Given the description of an element on the screen output the (x, y) to click on. 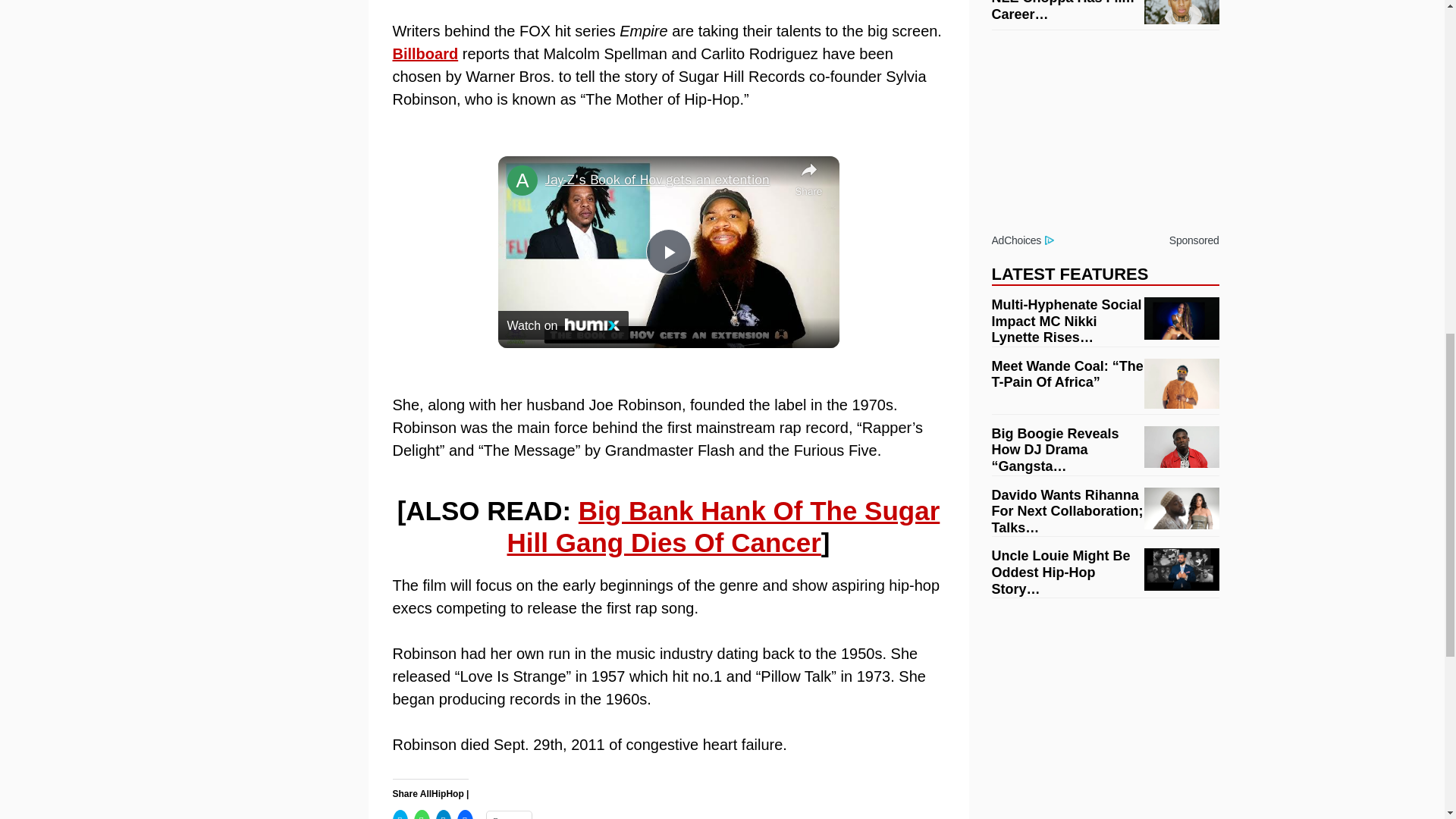
Play Video (668, 251)
Click to share on Twitter (401, 814)
